Given the description of an element on the screen output the (x, y) to click on. 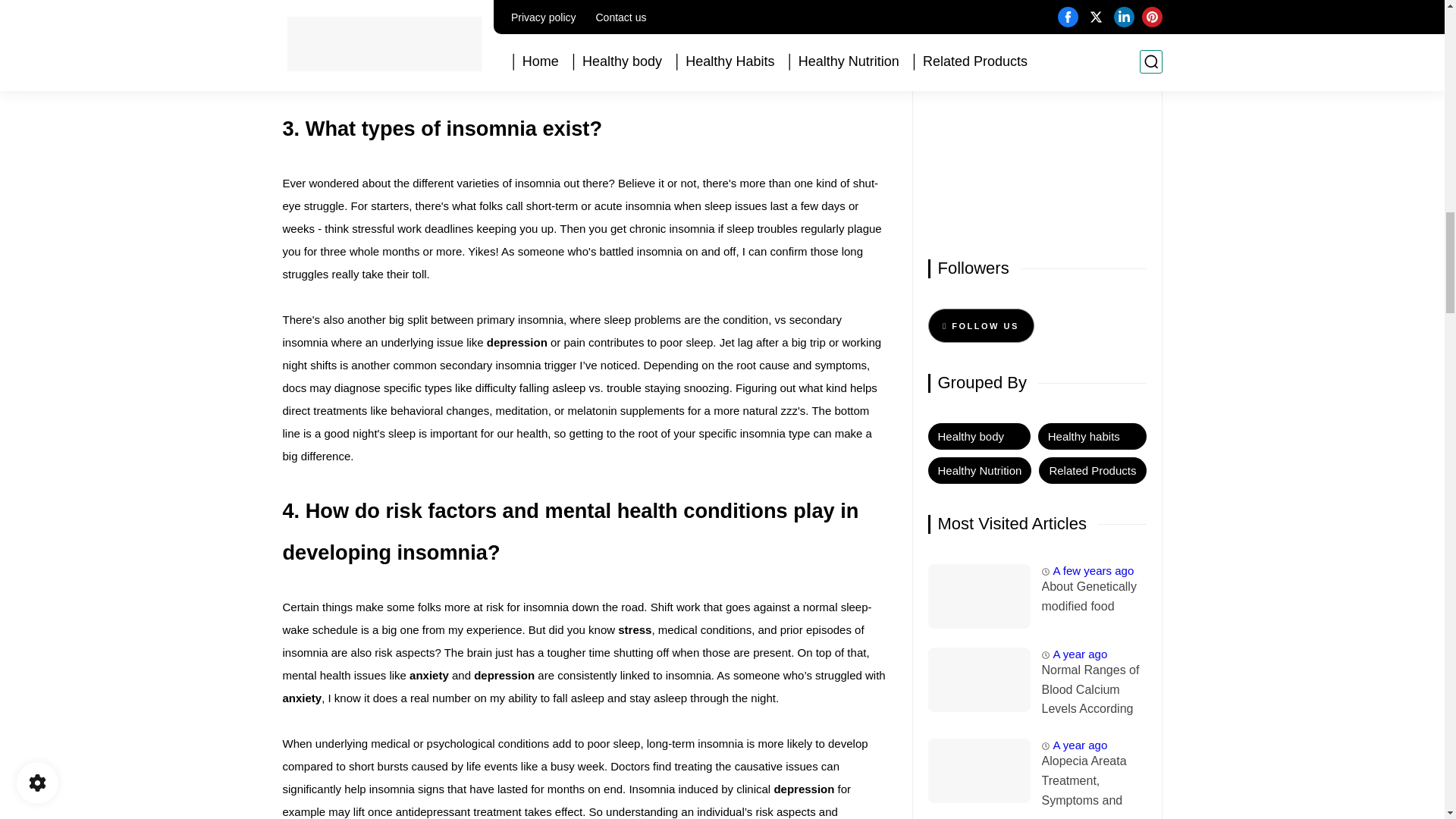
stress (633, 629)
depression (803, 788)
anxiety (301, 697)
anxiety (430, 675)
depression (504, 675)
depression (516, 341)
